Given the description of an element on the screen output the (x, y) to click on. 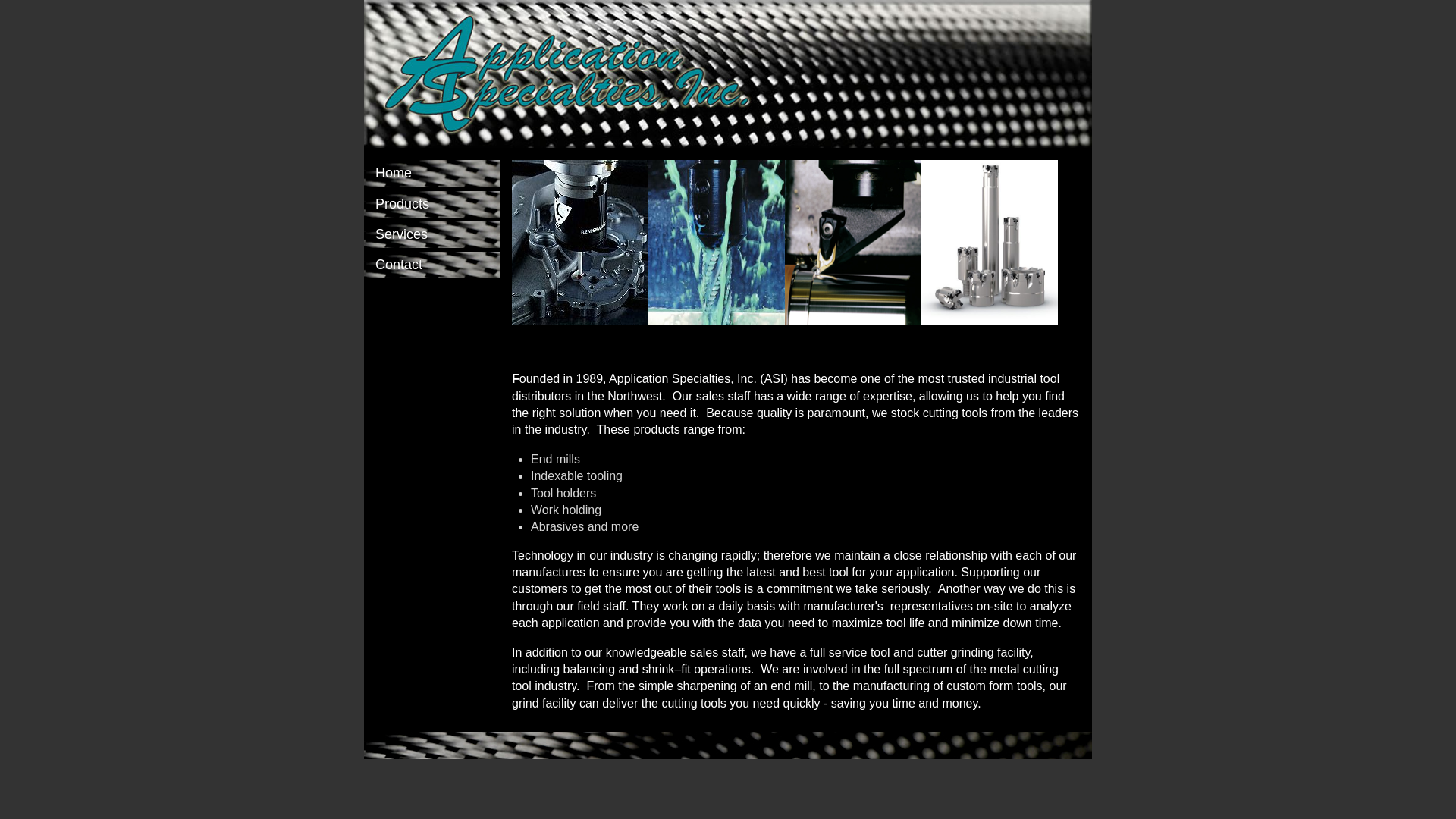
Products Element type: text (432, 204)
Contact Element type: text (432, 264)
Services Element type: text (432, 234)
Home Element type: text (432, 173)
